Given the description of an element on the screen output the (x, y) to click on. 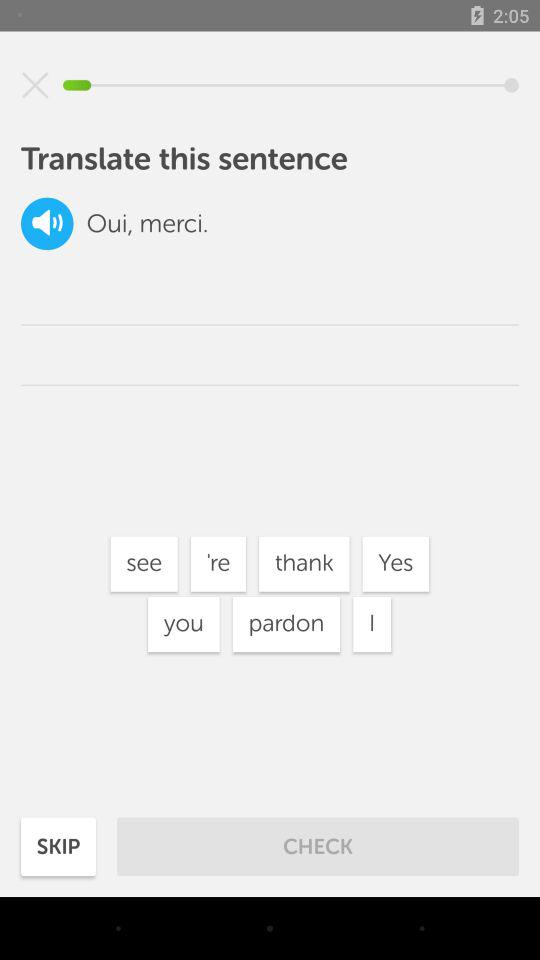
tap item next to 're icon (143, 563)
